Given the description of an element on the screen output the (x, y) to click on. 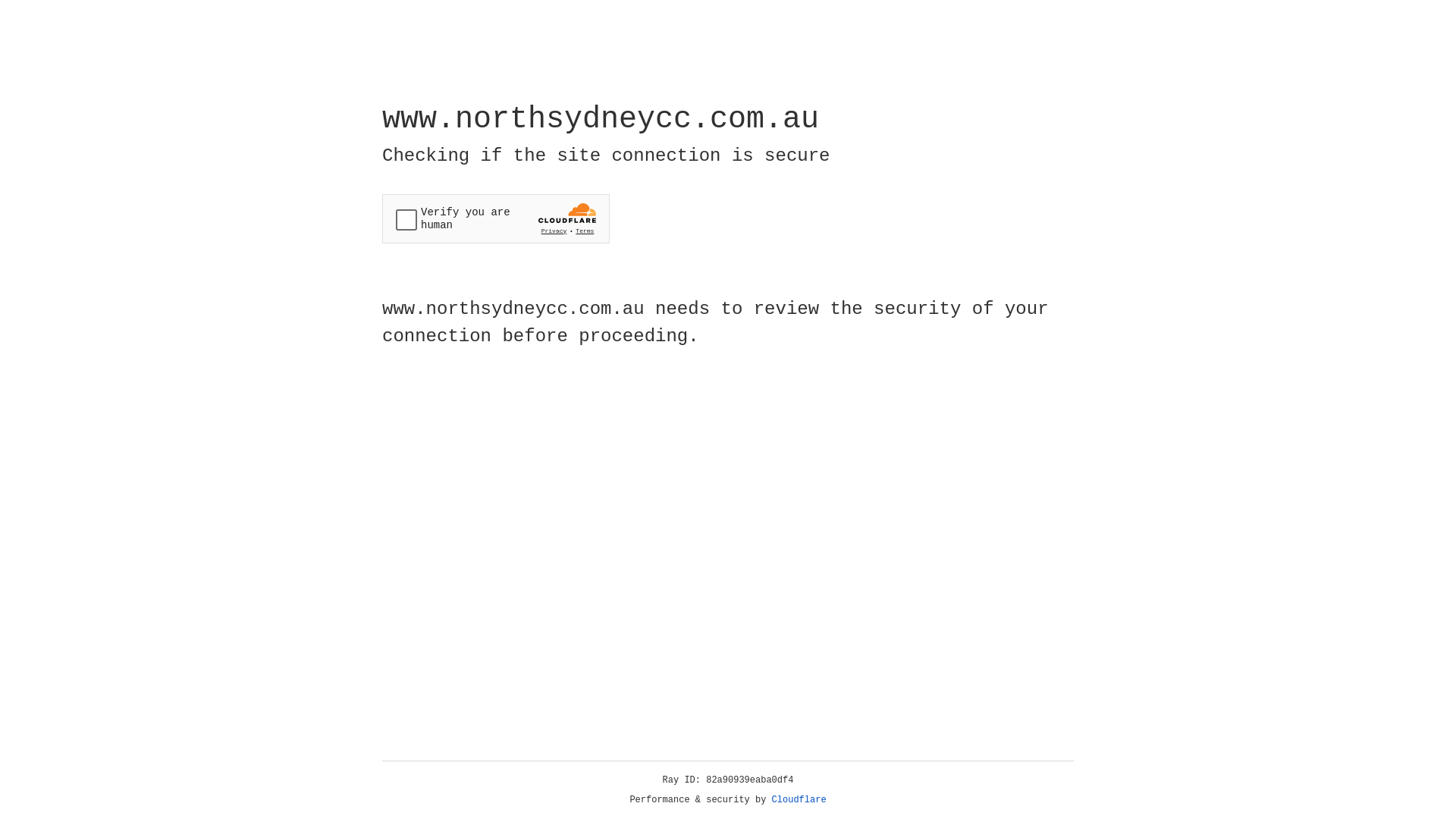
Widget containing a Cloudflare security challenge Element type: hover (495, 218)
Cloudflare Element type: text (798, 799)
